Given the description of an element on the screen output the (x, y) to click on. 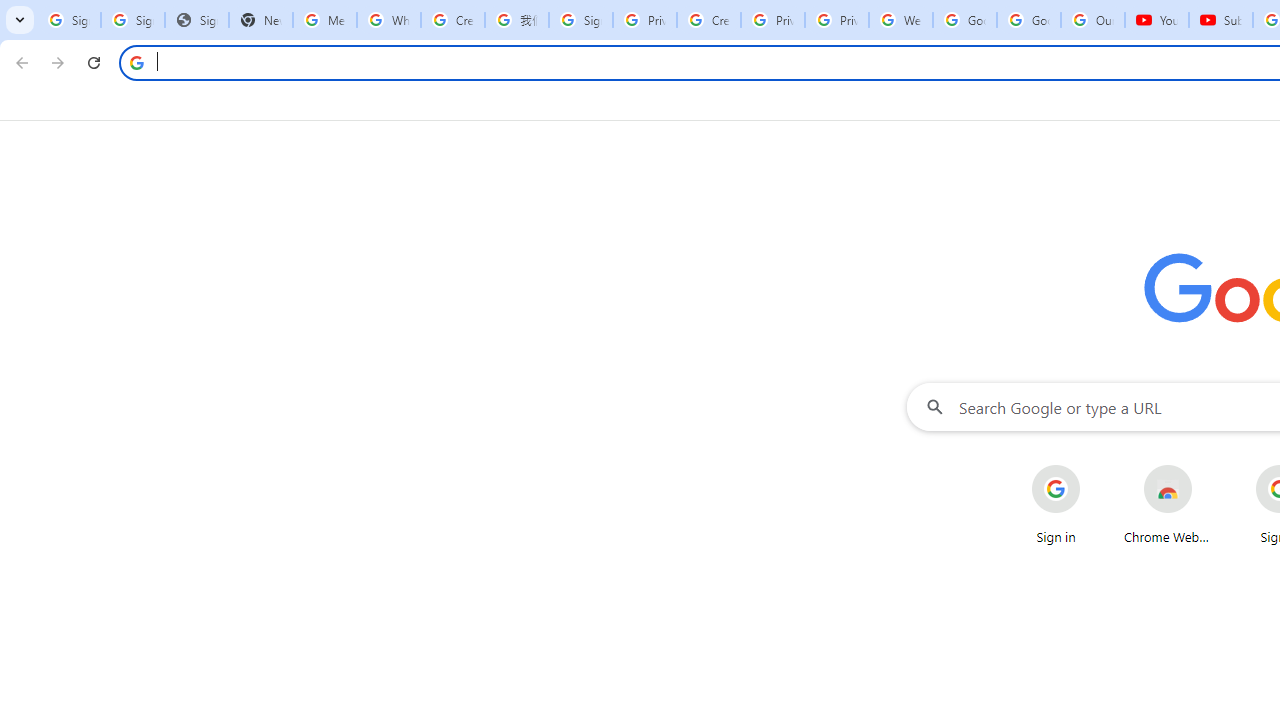
Create your Google Account (453, 20)
Welcome to My Activity (901, 20)
Subscriptions - YouTube (1221, 20)
Who is my administrator? - Google Account Help (389, 20)
Create your Google Account (709, 20)
Sign in - Google Accounts (581, 20)
Sign in - Google Accounts (133, 20)
More actions for Sign in shortcut (1095, 466)
